Given the description of an element on the screen output the (x, y) to click on. 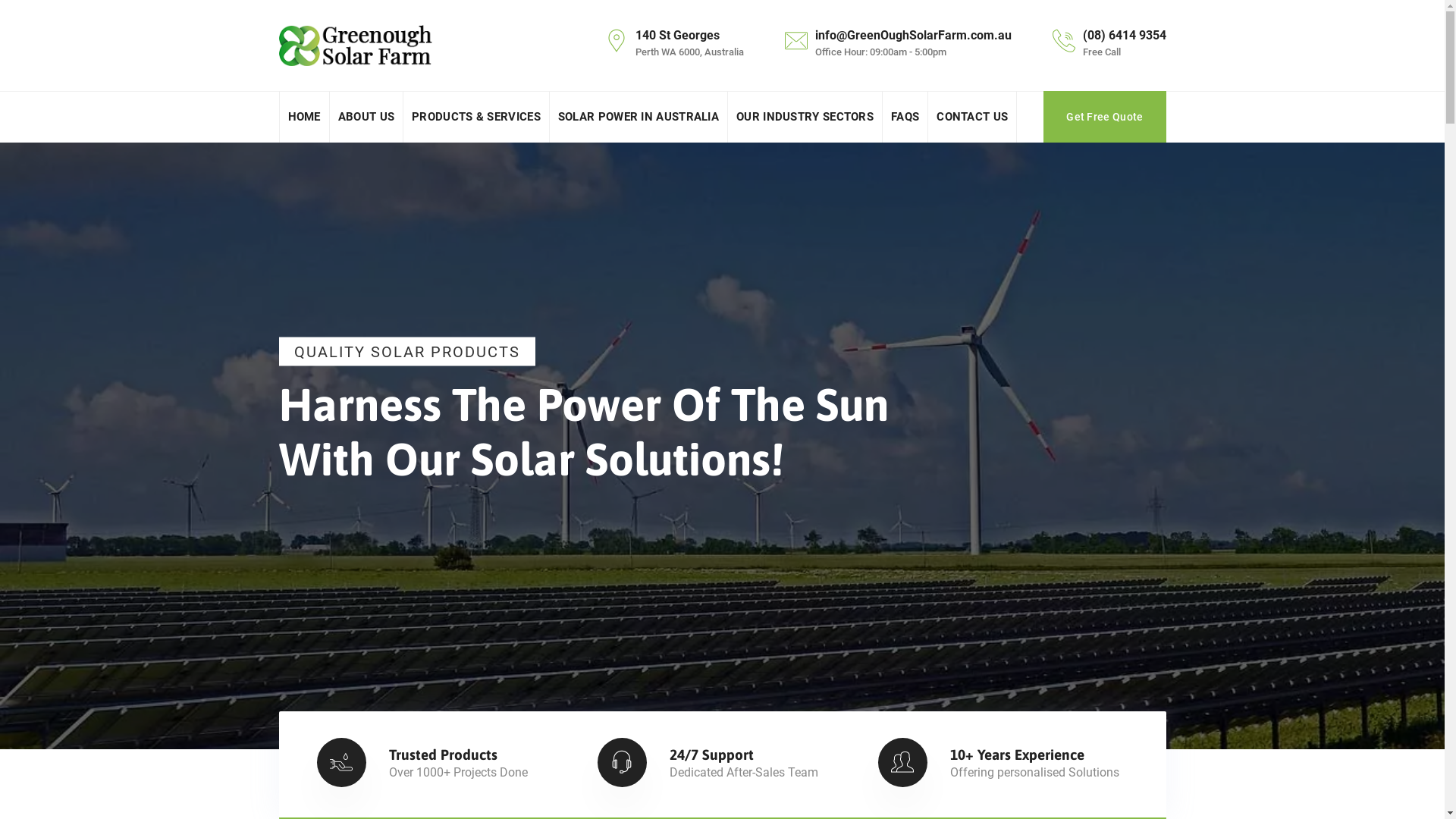
info@GreenOughSolarFarm.com.au Element type: text (912, 35)
HOME Element type: text (304, 116)
Get Free Quote Element type: text (1104, 116)
ABOUT US Element type: text (366, 116)
CONTACT US Element type: text (971, 116)
(08) 6414 9354 Element type: text (1124, 35)
FAQS Element type: text (905, 116)
SOLAR POWER IN AUSTRALIA Element type: text (638, 116)
OUR INDUSTRY SECTORS Element type: text (804, 116)
PRODUCTS & SERVICES Element type: text (475, 116)
